Given the description of an element on the screen output the (x, y) to click on. 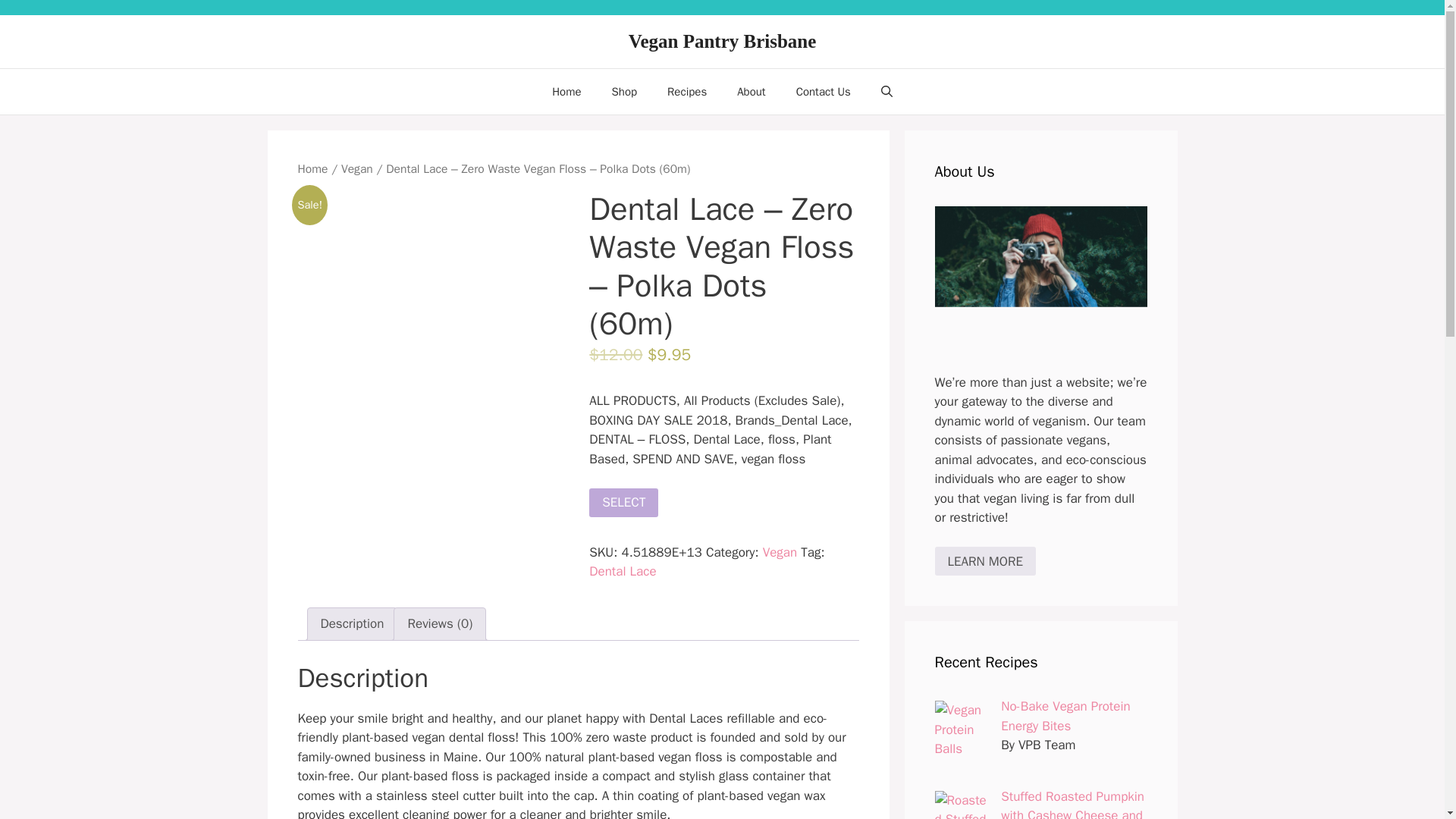
Contact Us (823, 91)
Vegan (779, 552)
SELECT (623, 502)
Home (566, 91)
Vegan (356, 168)
Description (352, 624)
No-Bake Vegan Protein Energy Bites (1065, 715)
LEARN MORE (984, 561)
Recipes (687, 91)
